Given the description of an element on the screen output the (x, y) to click on. 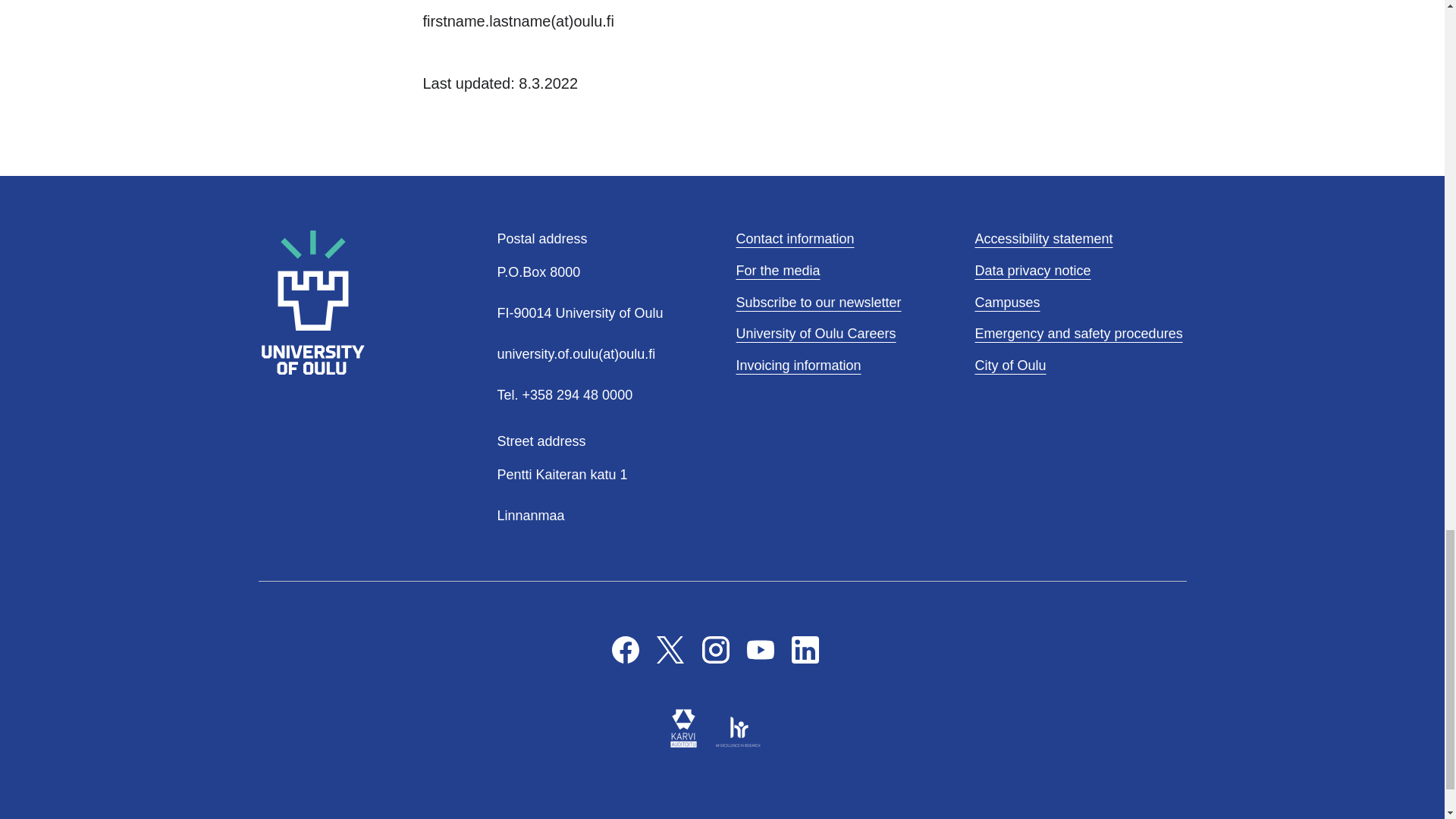
Instagram (715, 648)
Facebook (625, 648)
Youtube (760, 648)
LinkedIn (805, 648)
